Given the description of an element on the screen output the (x, y) to click on. 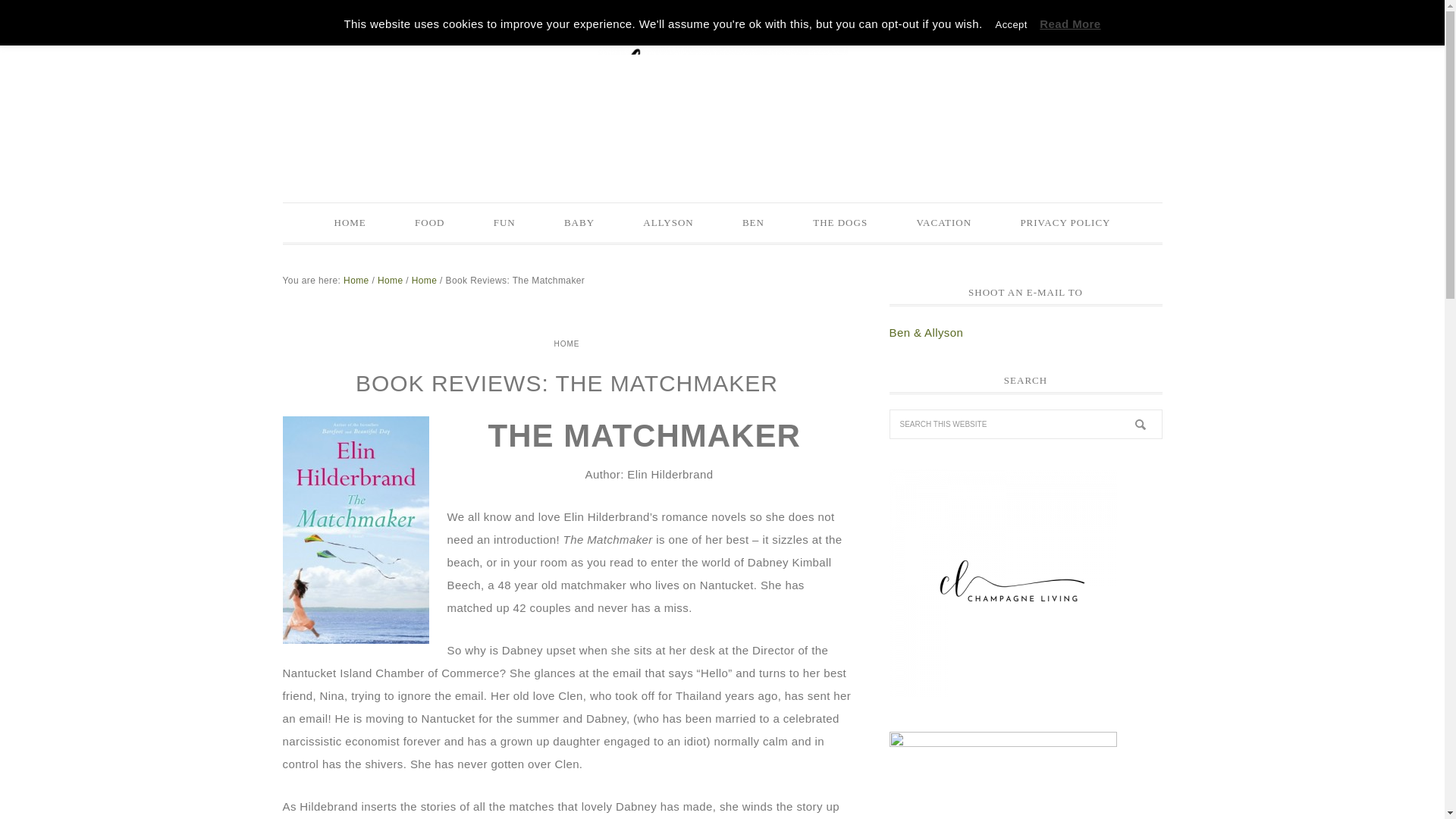
Home (390, 279)
BABY (579, 222)
HOME (566, 342)
Accept (1011, 24)
BEN (753, 222)
HOME (349, 222)
FOOD (429, 222)
Home (356, 279)
HOME FOOD FUN (721, 92)
PRIVACY POLICY (1064, 222)
Home (425, 279)
THE DOGS (839, 222)
FUN (504, 222)
